Given the description of an element on the screen output the (x, y) to click on. 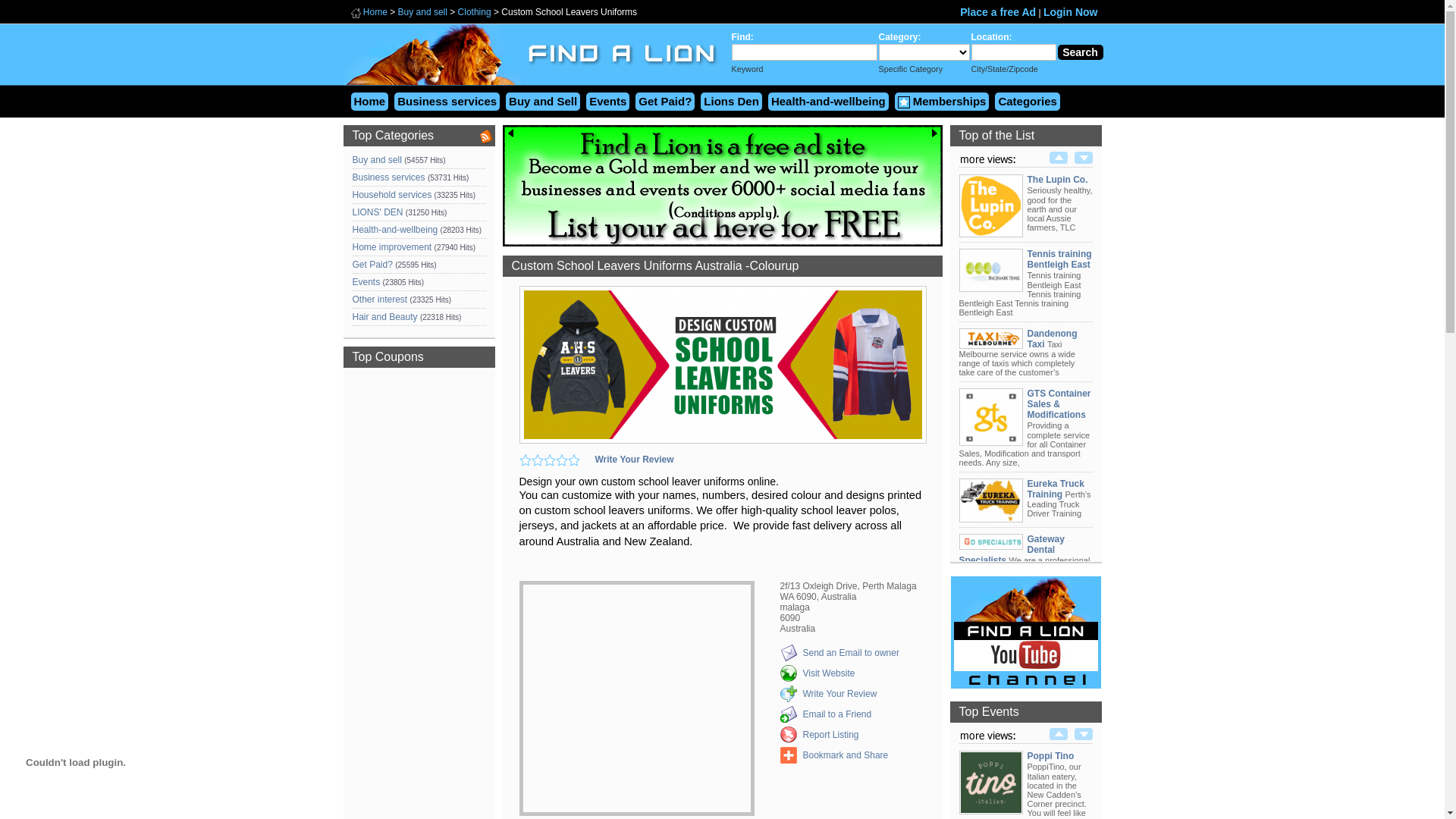
Gateway Dental Specialists Element type: hover (990, 544)
Eureka Truck Training Element type: text (1054, 487)
Dandenong Taxi Element type: hover (990, 343)
The Lupin Co. Element type: text (1056, 179)
Business services Element type: text (387, 177)
Custom School Leavers Uniforms Australia -Colourup Element type: hover (721, 364)
Poppi Tino Element type: text (1049, 755)
Clothing Element type: text (474, 11)
Visit Website Element type: text (828, 673)
Health-and-wellbeing Element type: text (828, 101)
Business services Element type: text (446, 101)
Events Element type: text (365, 281)
Tennis training Bentleigh East Element type: text (1058, 258)
Write Your Review Element type: text (633, 459)
Lions Den Element type: text (731, 101)
GTS Container Sales & Modifications Element type: text (1058, 404)
Events Element type: text (607, 101)
Eureka Truck Training Element type: hover (990, 517)
Get Paid? Element type: text (664, 101)
Gateway Dental Specialists Element type: text (1010, 549)
Buy and sell Element type: text (376, 159)
Tennis training Bentleigh East Element type: hover (990, 287)
Bookmark and Share Element type: text (845, 754)
Household services Element type: text (391, 194)
GTS Container Sales & Modifications Element type: hover (990, 441)
The Lupin Co. Element type: hover (990, 232)
Find a Lion Element type: hover (529, 89)
Home Element type: text (375, 11)
Place a free Ad Element type: text (997, 12)
Home Element type: text (369, 101)
Memberships Element type: text (941, 101)
Poppi Tino Element type: hover (990, 809)
Send an Email to owner Element type: text (850, 652)
Write Your Review Element type: text (839, 693)
Health-and-wellbeing Element type: text (394, 229)
Dandenong Taxi Element type: text (1051, 337)
Login Now Element type: text (1070, 12)
Buy and Sell Element type: text (542, 101)
Report Listing Element type: text (830, 734)
Buy and sell Element type: text (422, 11)
LIONS' DEN Element type: text (376, 212)
Get Paid? Element type: text (371, 264)
Email to a Friend Element type: text (836, 714)
Other interest Element type: text (379, 299)
Categories Element type: text (1027, 101)
Home improvement Element type: text (391, 246)
Hair and Beauty Element type: text (384, 316)
Search Element type: text (1079, 51)
